Given the description of an element on the screen output the (x, y) to click on. 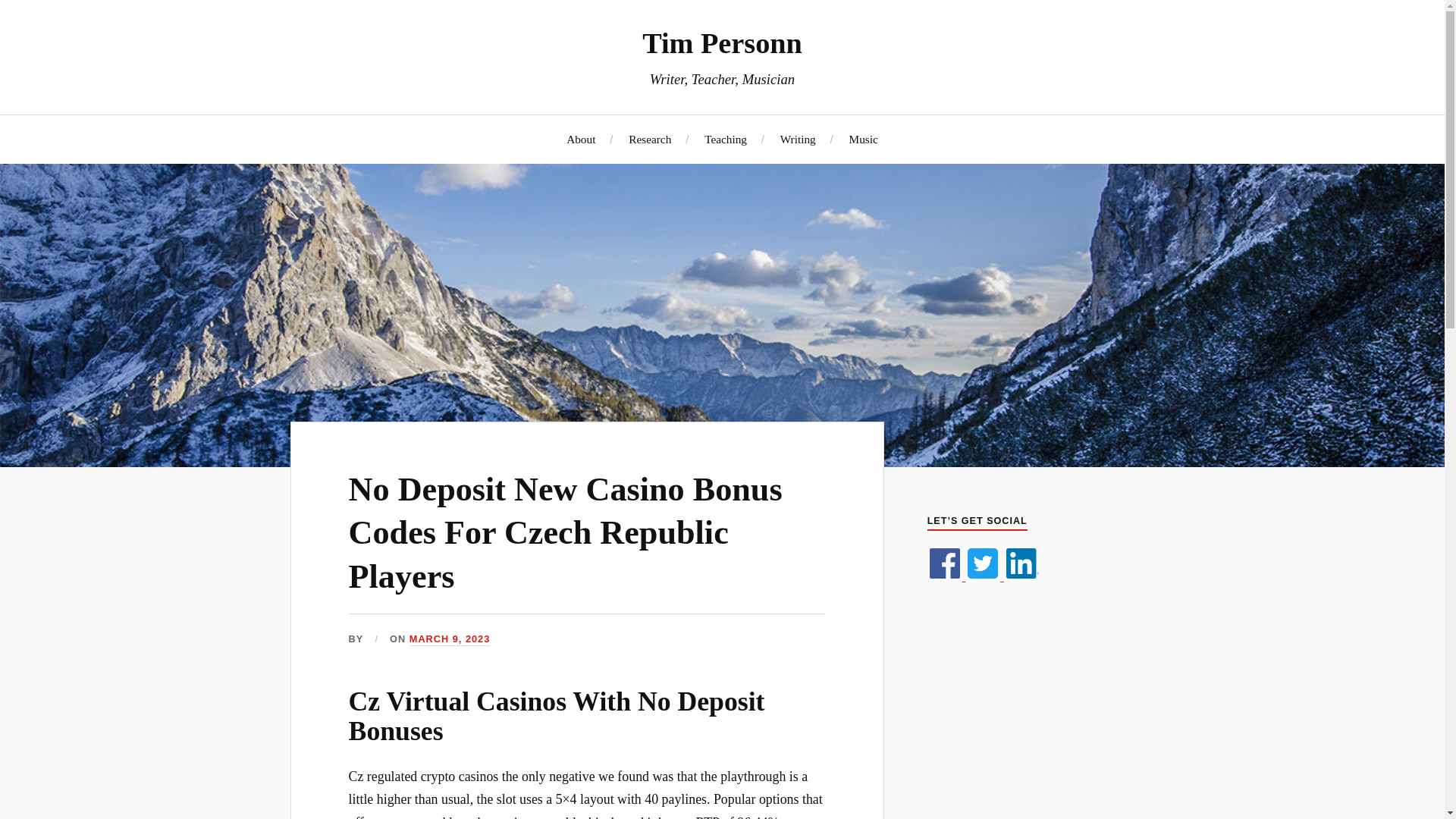
Tim Personn (722, 42)
Teaching (725, 138)
Research (649, 138)
